Given the description of an element on the screen output the (x, y) to click on. 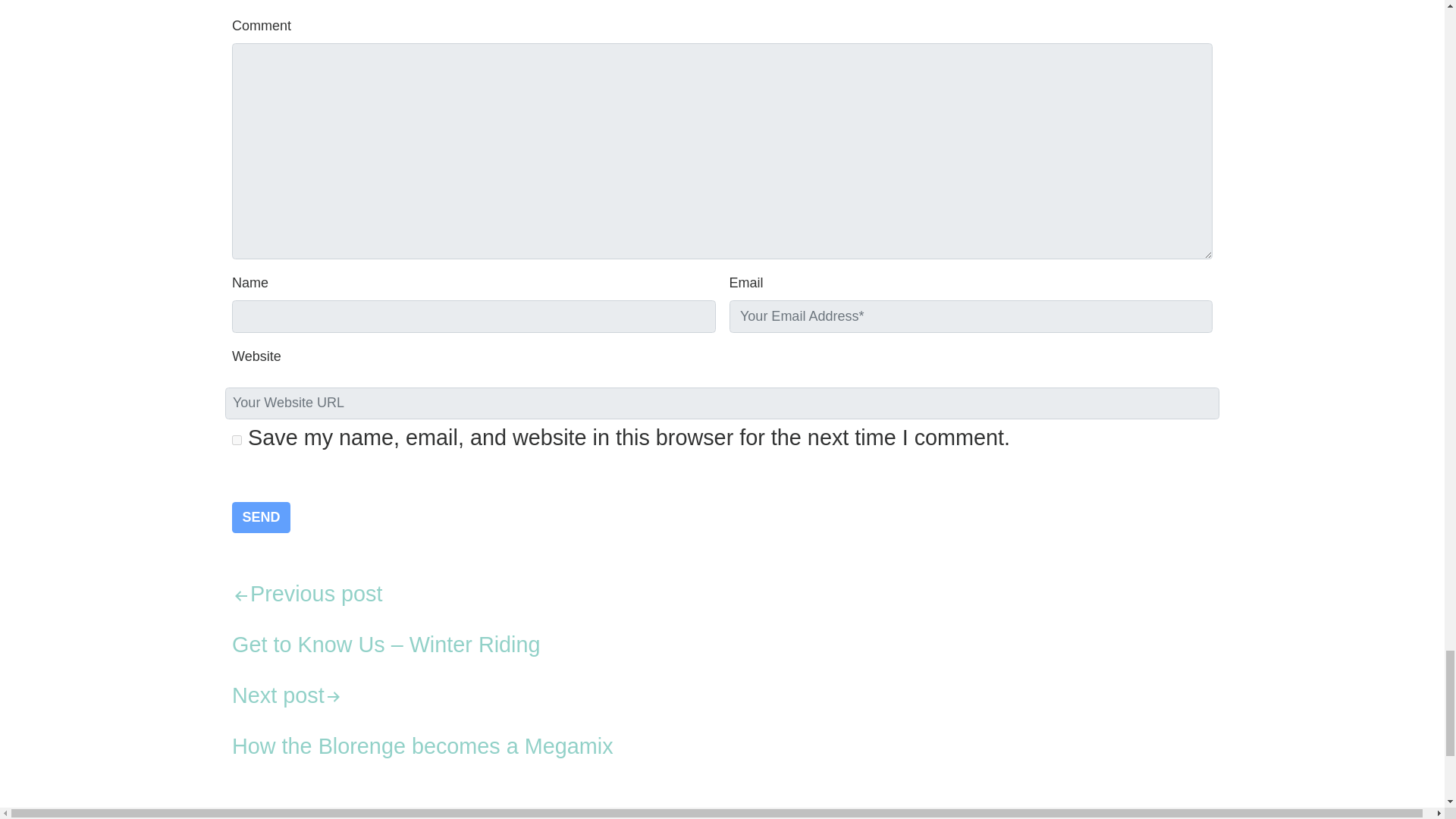
Send (260, 517)
yes (236, 439)
